Given the description of an element on the screen output the (x, y) to click on. 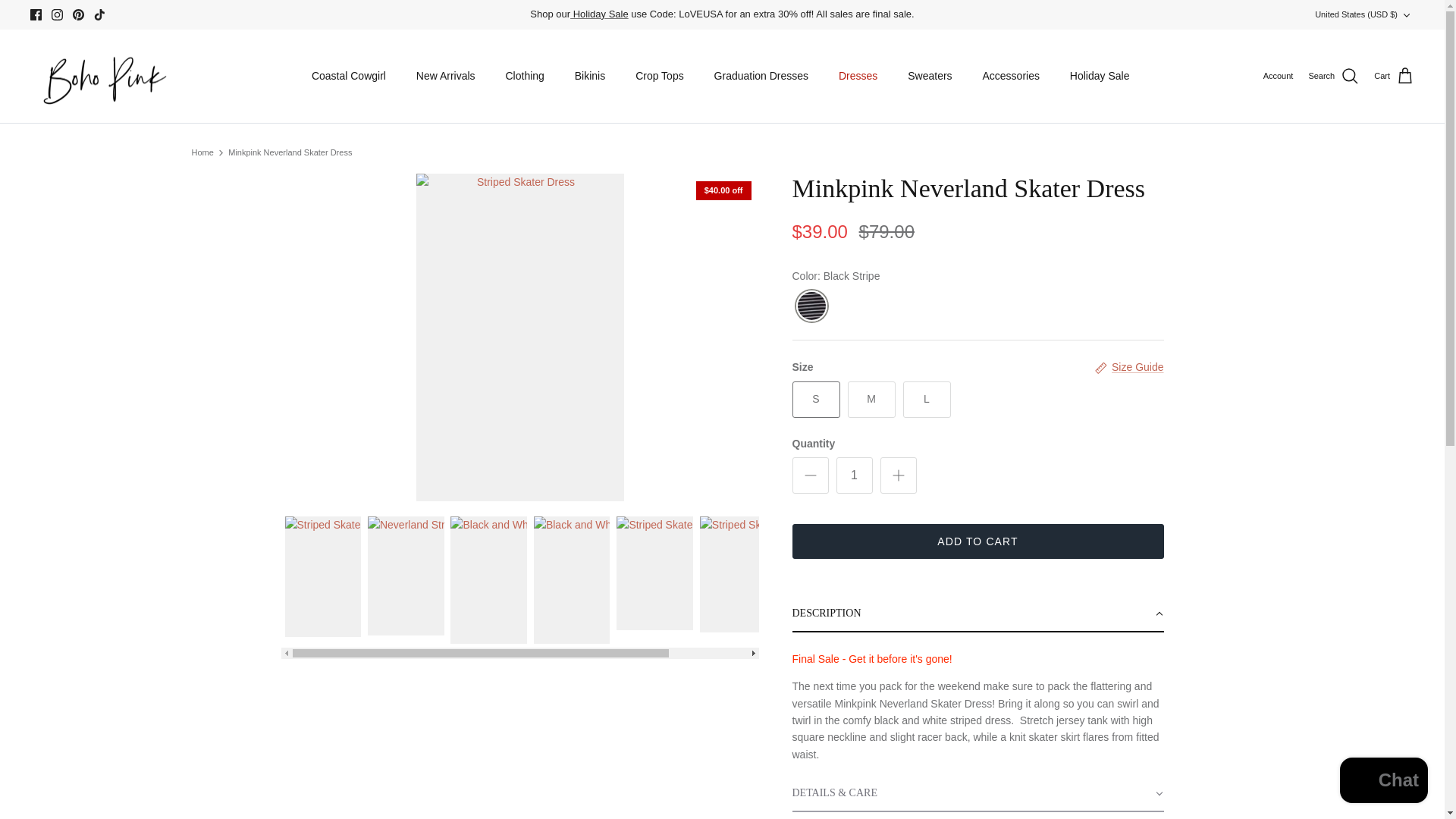
Instagram (56, 14)
Boho Pink (100, 76)
1 (853, 475)
Facebook (36, 14)
Holiday Sale (599, 13)
Tiktok (99, 14)
Down (1406, 14)
Pinterest (78, 14)
Holiday Sale (599, 13)
